Given the description of an element on the screen output the (x, y) to click on. 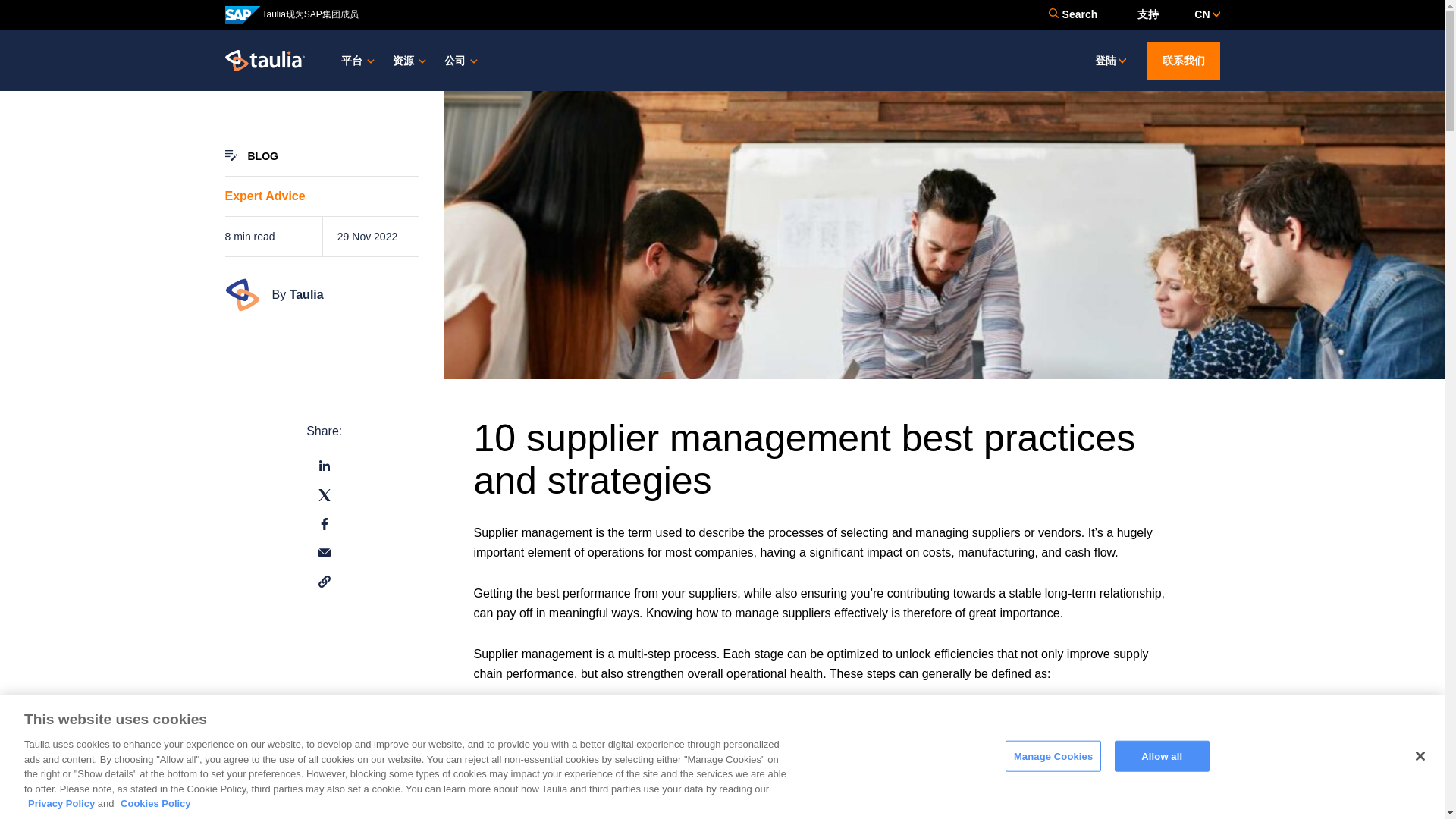
Return to the homepage (264, 59)
Search (1072, 14)
